Given the description of an element on the screen output the (x, y) to click on. 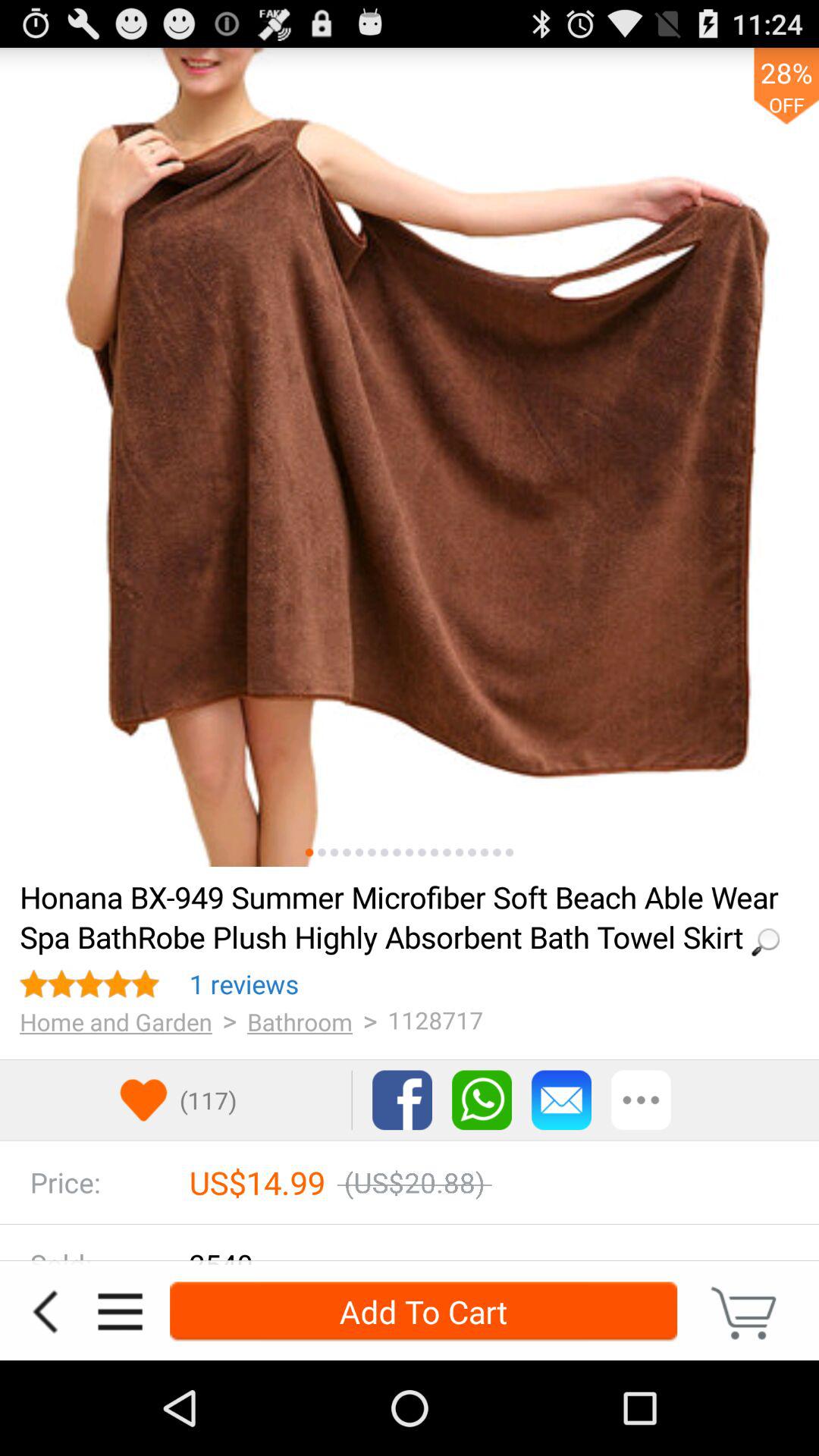
tap icon above > app (244, 983)
